Given the description of an element on the screen output the (x, y) to click on. 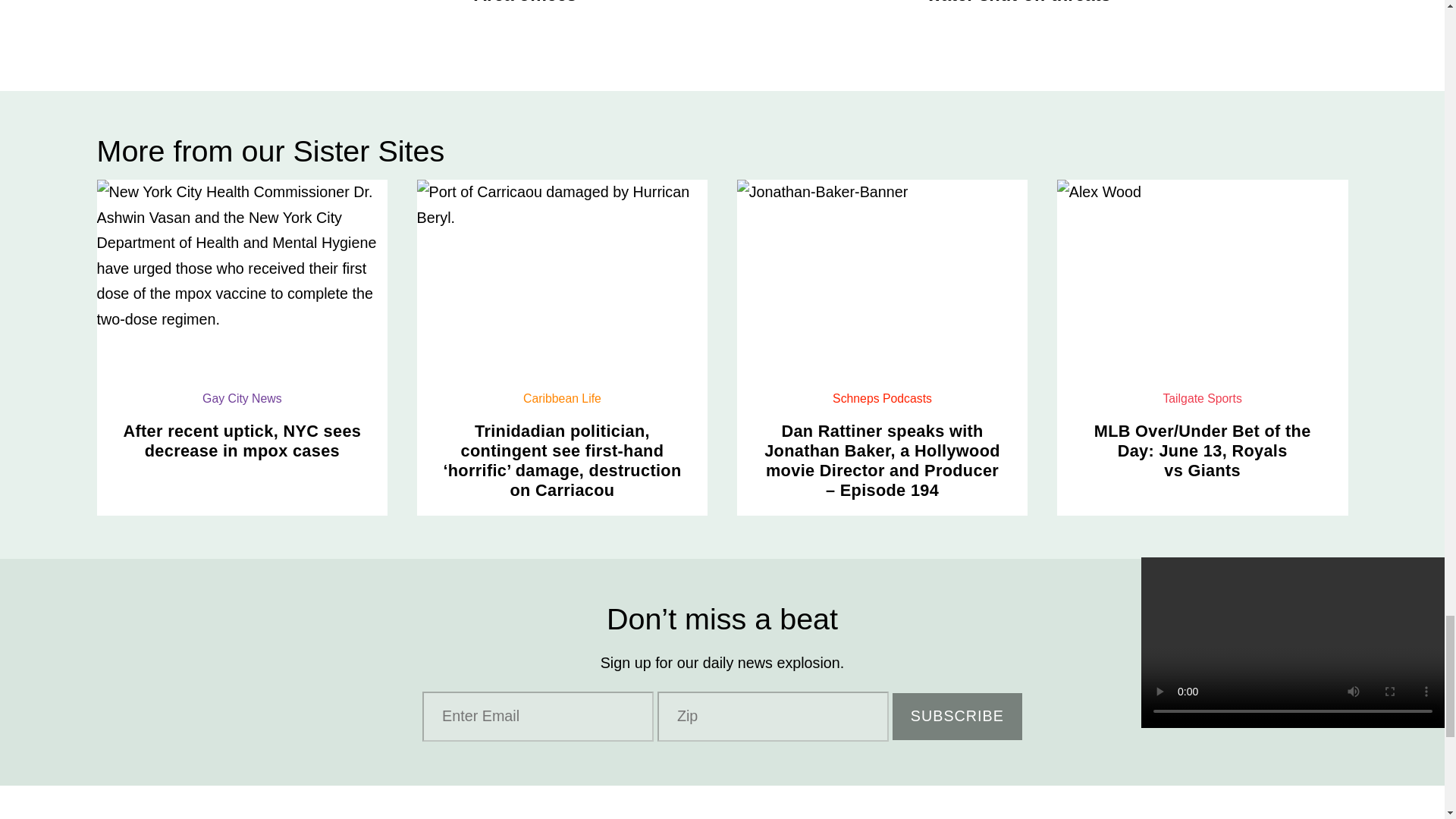
Subscribe (957, 716)
